Given the description of an element on the screen output the (x, y) to click on. 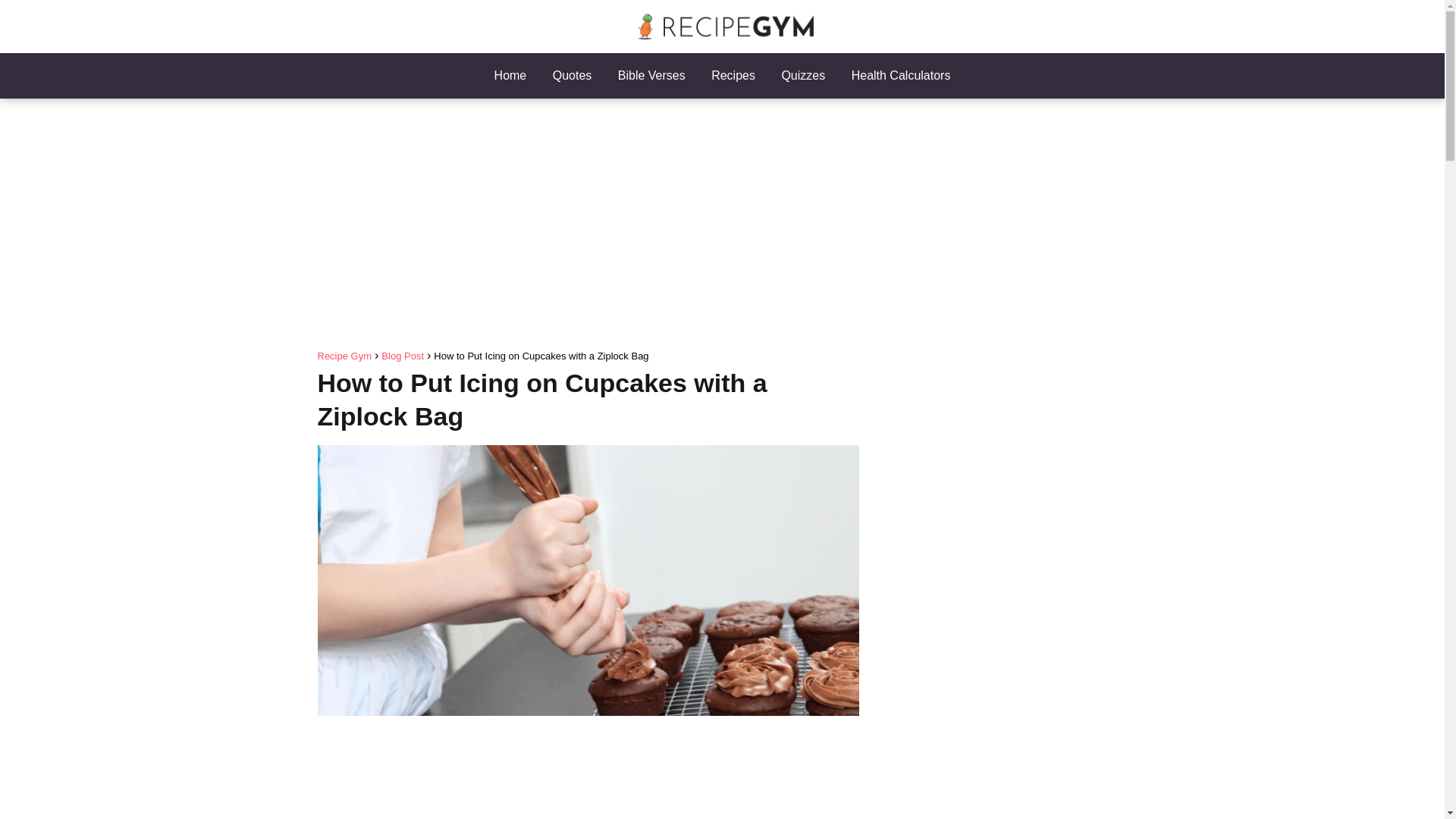
Bible Verses (651, 74)
Home (511, 74)
Blog Post (402, 355)
Quizzes (802, 74)
Recipe Gym (344, 355)
Recipes (733, 74)
Quotes (572, 74)
Health Calculators (900, 74)
